Given the description of an element on the screen output the (x, y) to click on. 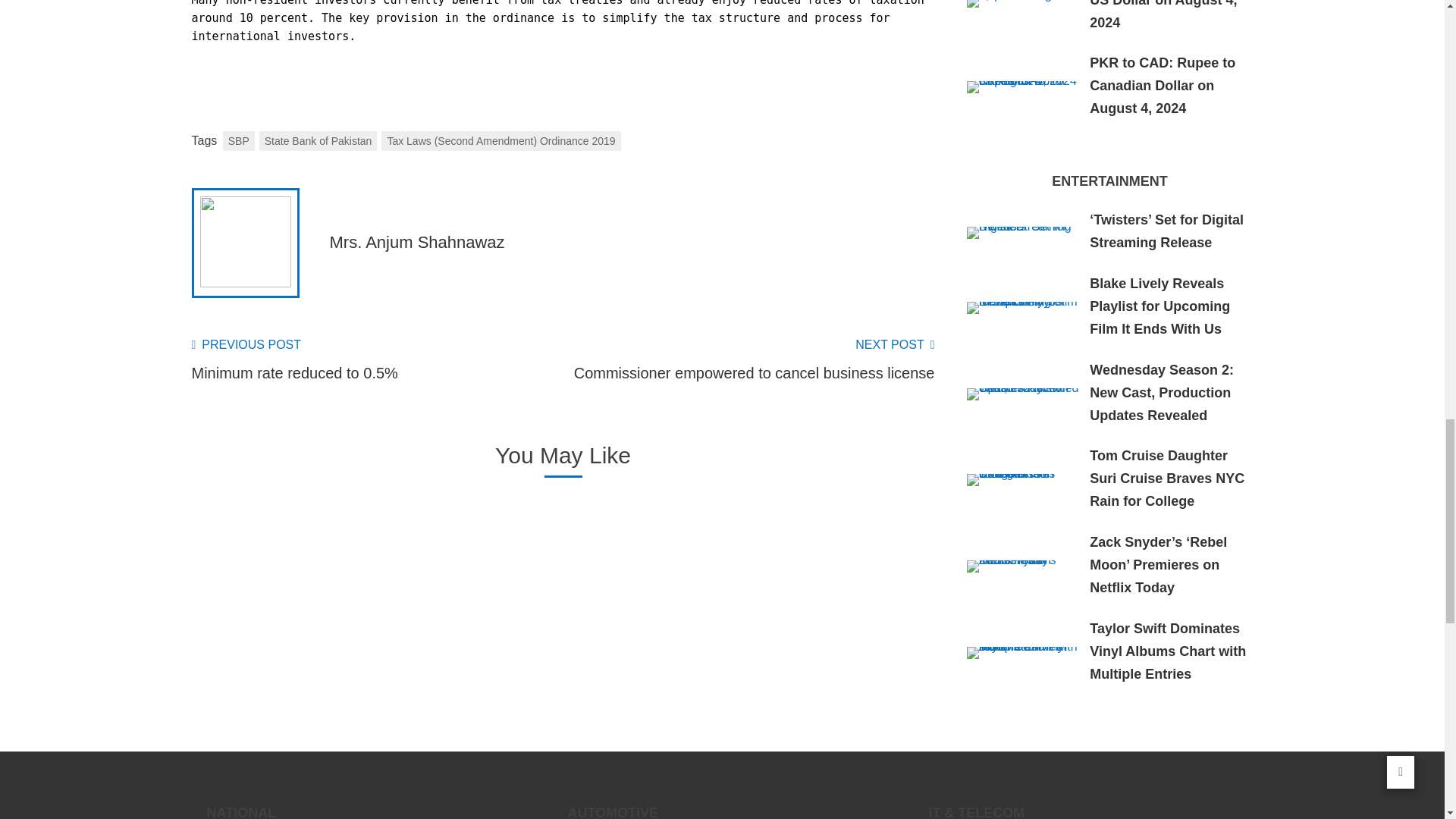
Mrs. Anjum Shahnawaz (416, 241)
SBP (238, 140)
Posts by Mrs. Anjum Shahnawaz (416, 241)
State Bank of Pakistan (748, 359)
